Given the description of an element on the screen output the (x, y) to click on. 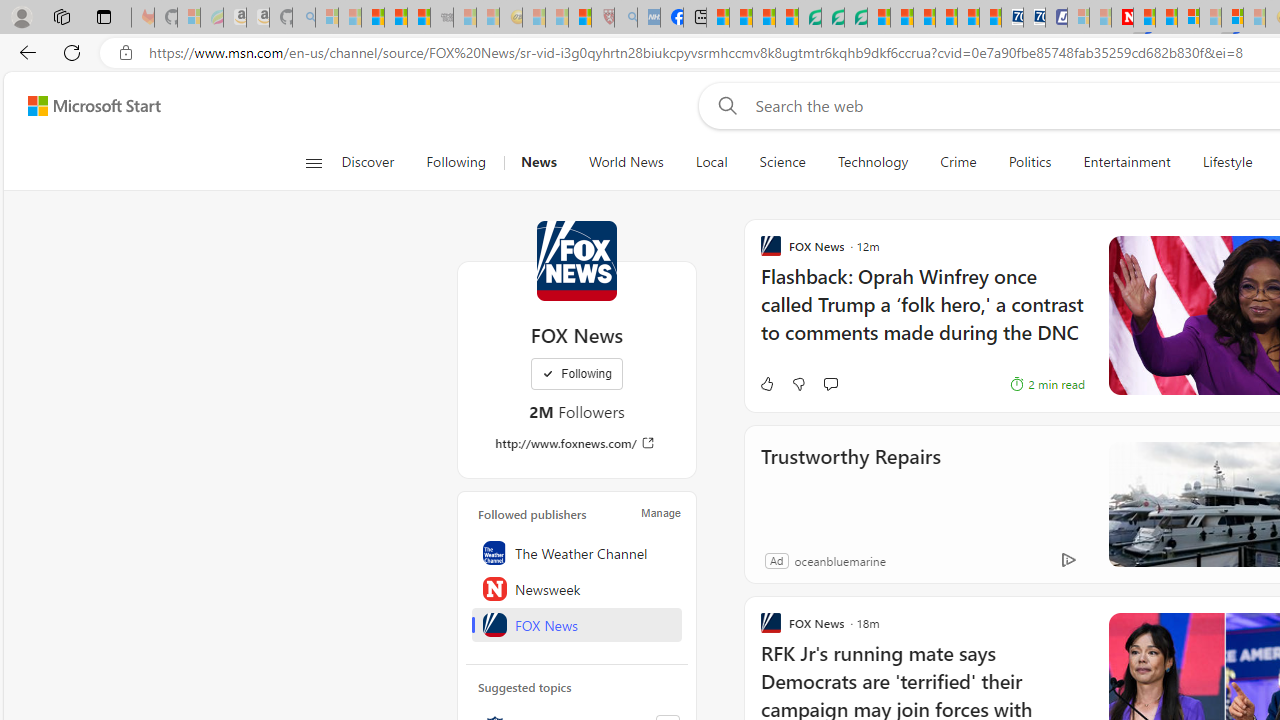
Like (766, 384)
Microsoft Word - consumer-privacy address update 2.2021 (855, 17)
Newsweek (577, 588)
Trustworthy Repairs (850, 484)
